Given the description of an element on the screen output the (x, y) to click on. 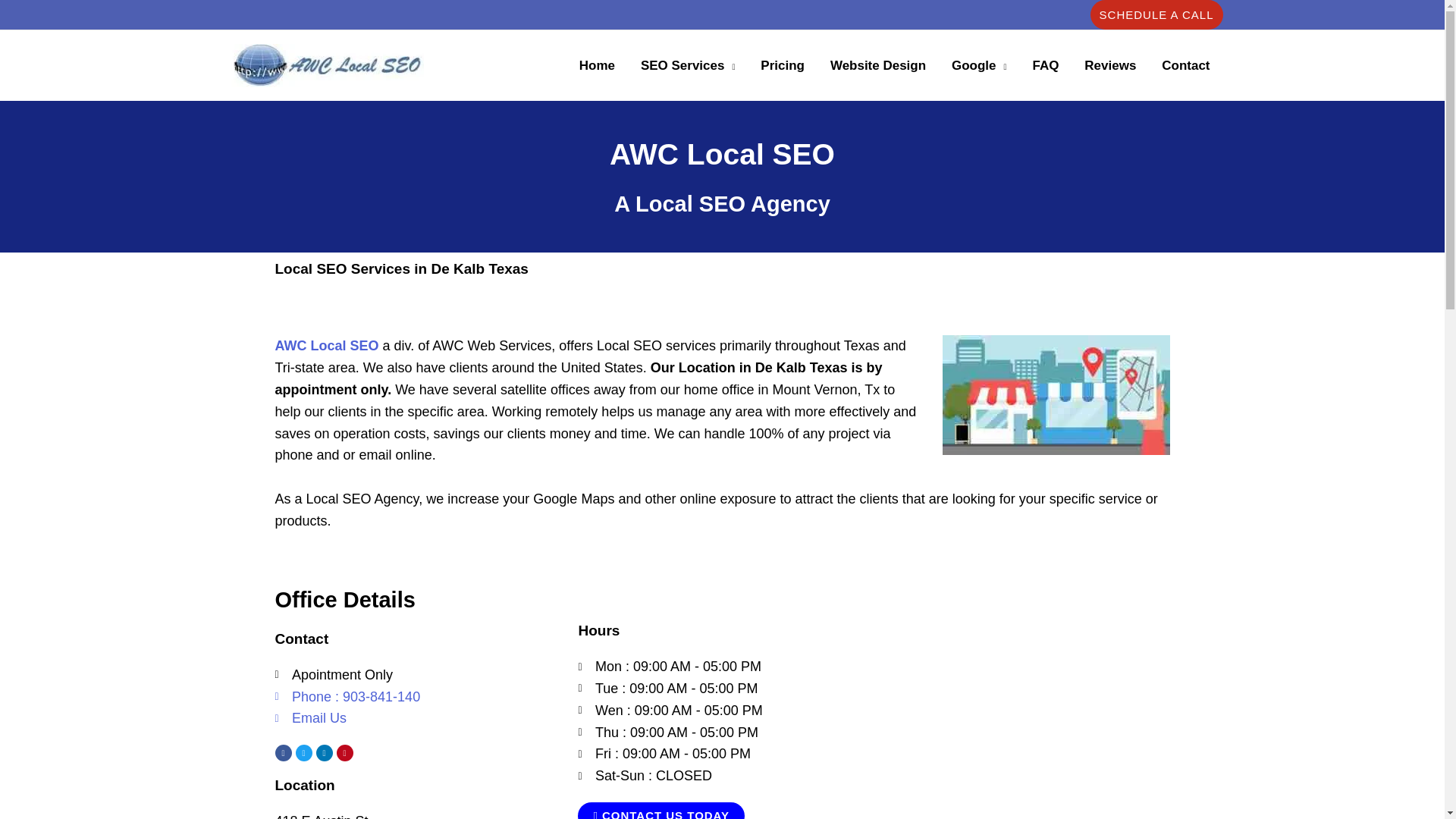
Pricing (782, 65)
Texas Local SEO Search (596, 65)
SEO Services (687, 65)
Contact (1185, 65)
Reviews (1109, 65)
Website Development (877, 65)
Google Services (979, 65)
Home (596, 65)
FAQ (1045, 65)
Website Design (877, 65)
Google (979, 65)
Local SEO Service Price List (782, 65)
SEO Services (687, 65)
Local SEO Frequently Asked Questions (1045, 65)
SCHEDULE A CALL (1156, 14)
